Given the description of an element on the screen output the (x, y) to click on. 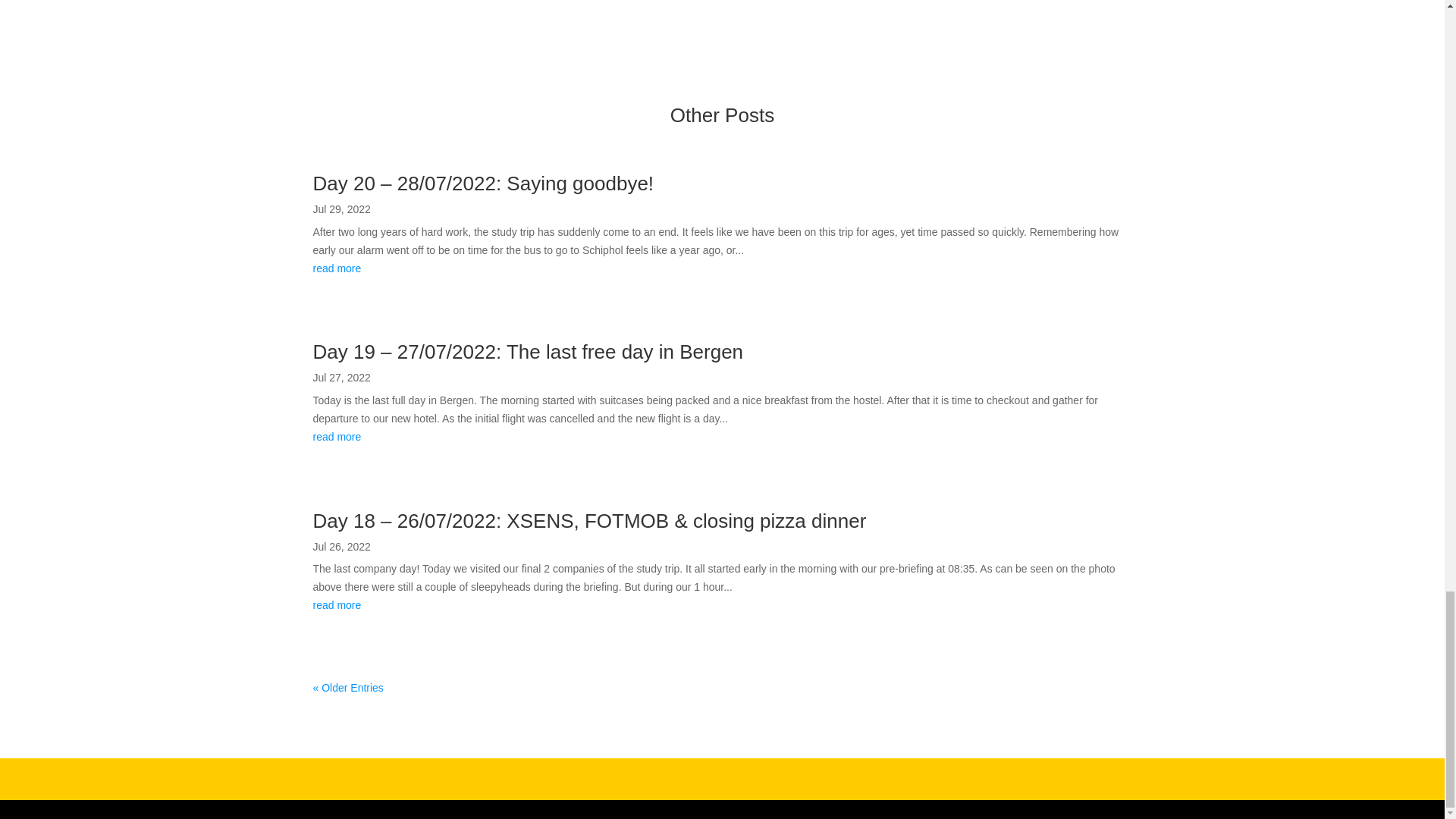
read more (722, 269)
read more (722, 606)
read more (722, 437)
